Given the description of an element on the screen output the (x, y) to click on. 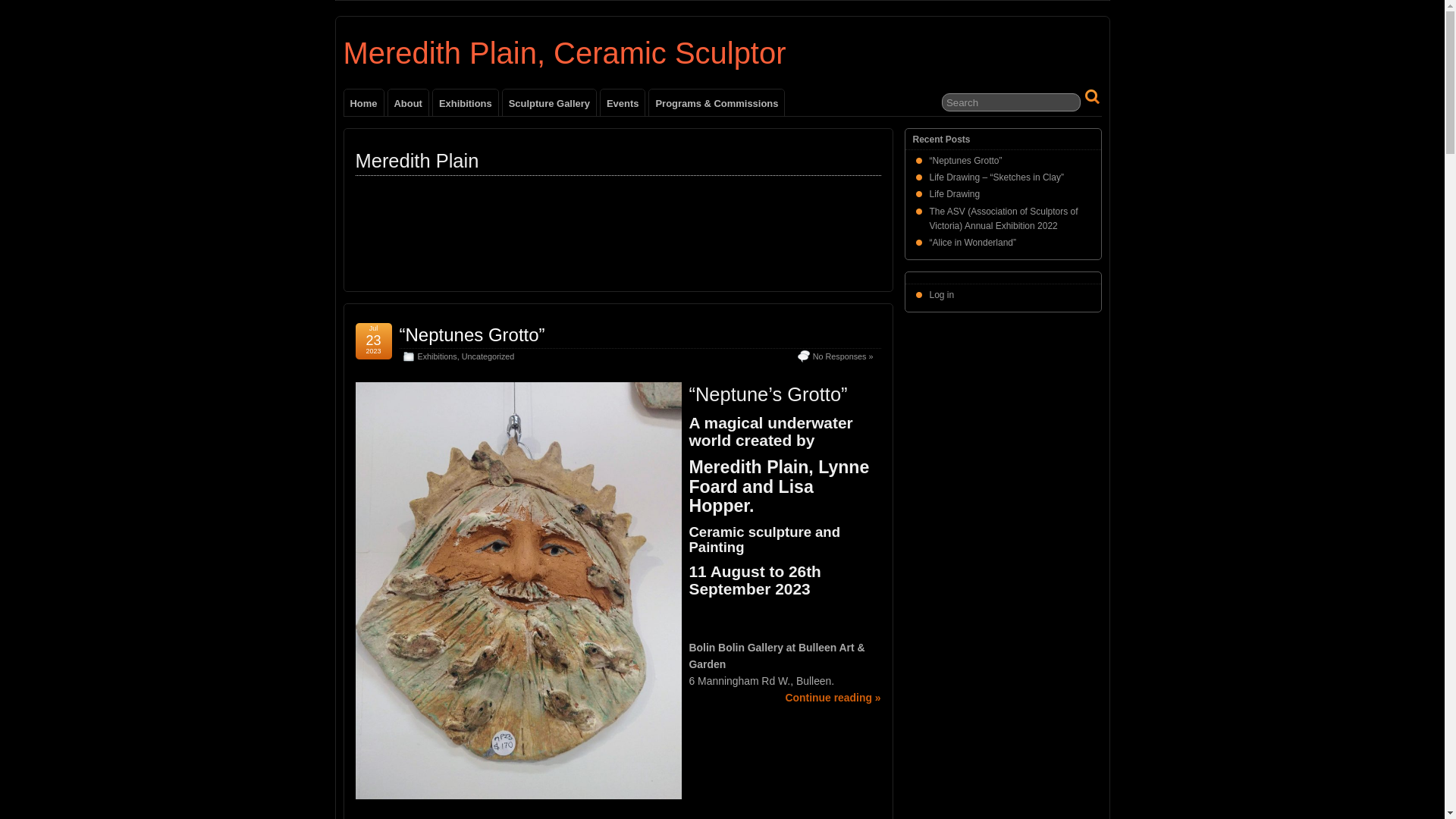
Life Drawing Element type: text (954, 193)
Uncategorized Element type: text (487, 355)
Exhibitions Element type: text (465, 102)
Log in Element type: text (941, 294)
Programs & Commissions Element type: text (716, 102)
Meredith Plain, Ceramic Sculptor Element type: text (563, 52)
Sculpture Gallery Element type: text (549, 102)
Events Element type: text (622, 102)
About Element type: text (408, 102)
Home Element type: text (363, 102)
Exhibitions Element type: text (436, 355)
